Given the description of an element on the screen output the (x, y) to click on. 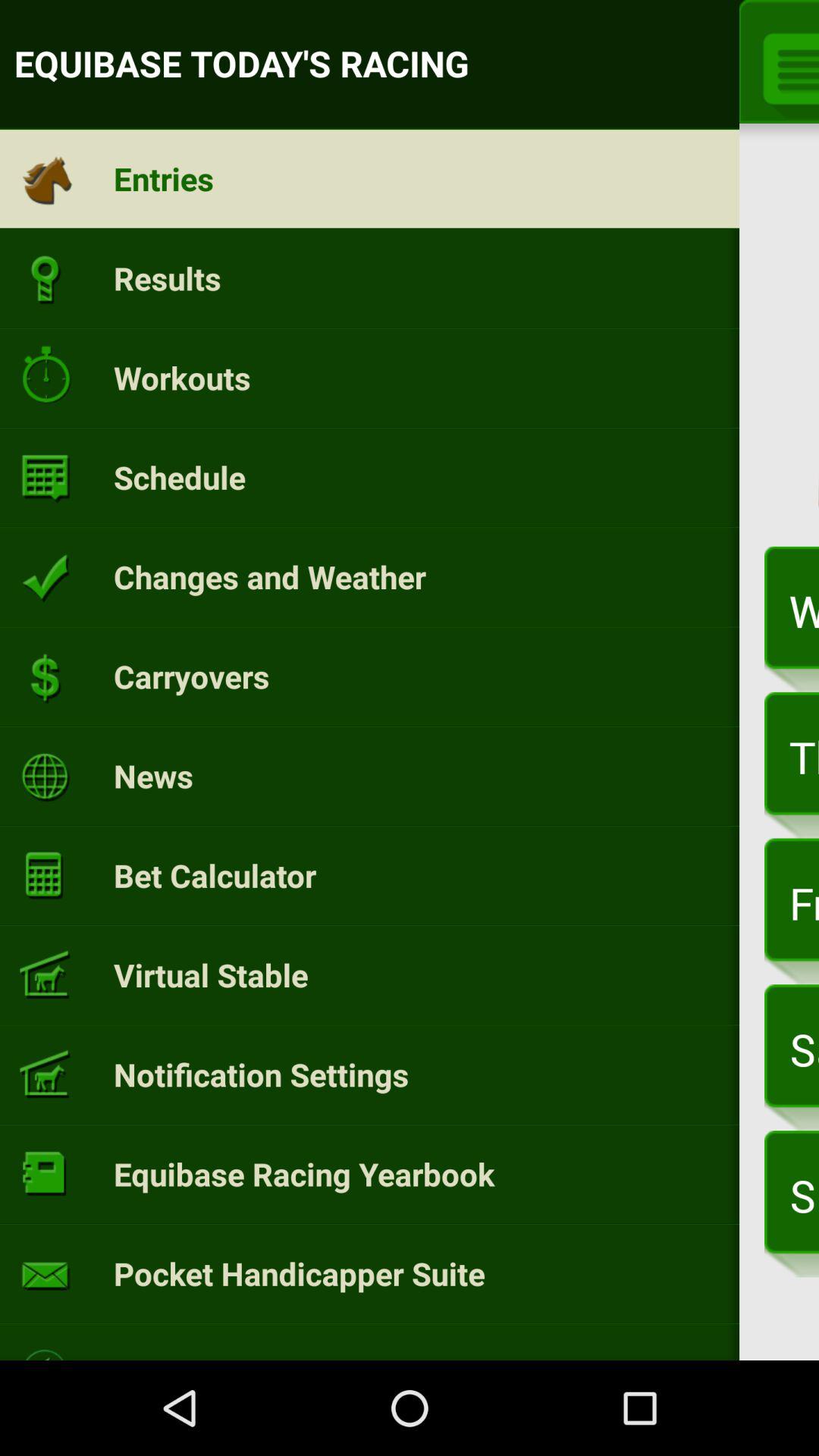
turn off app above the wednesday, mar 29 icon (818, 341)
